Given the description of an element on the screen output the (x, y) to click on. 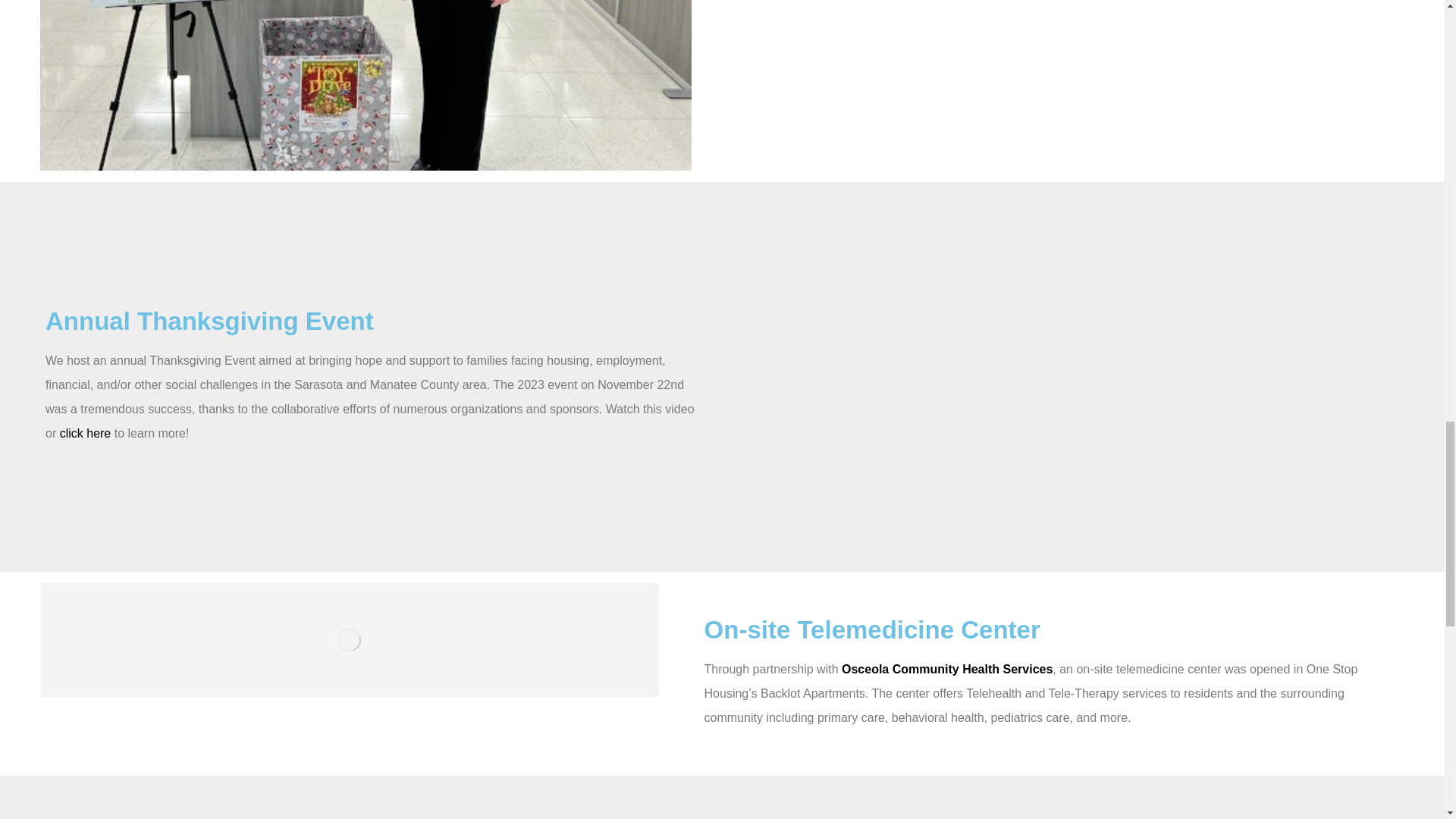
Osceola Community Health Services (946, 668)
click here (85, 432)
